Given the description of an element on the screen output the (x, y) to click on. 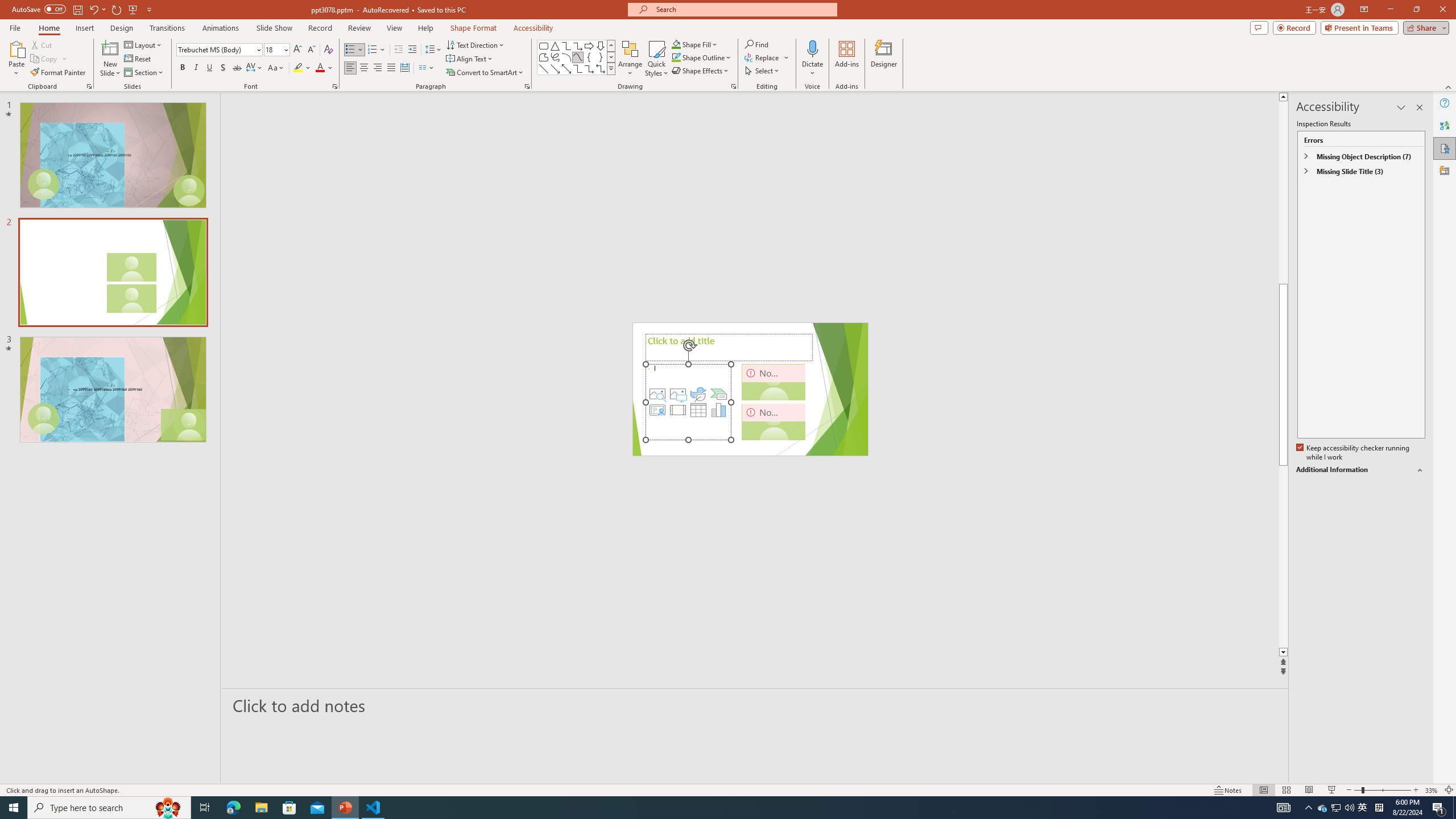
Shape Fill Dark Green, Accent 2 (675, 44)
Insert Video (677, 409)
